Given the description of an element on the screen output the (x, y) to click on. 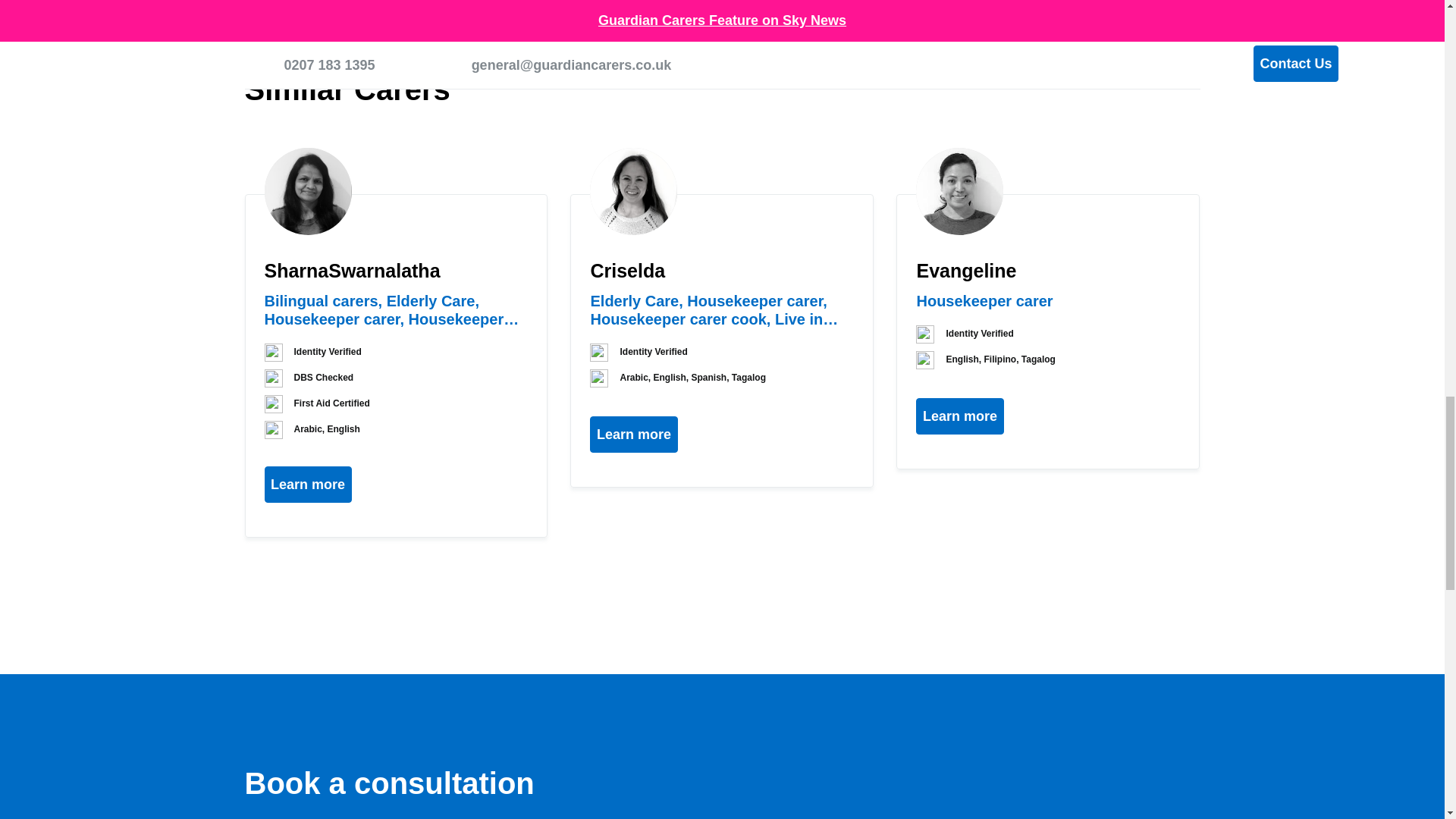
SharnaSwarnalatha (306, 191)
Criselda (633, 191)
Evangeline (959, 191)
